Given the description of an element on the screen output the (x, y) to click on. 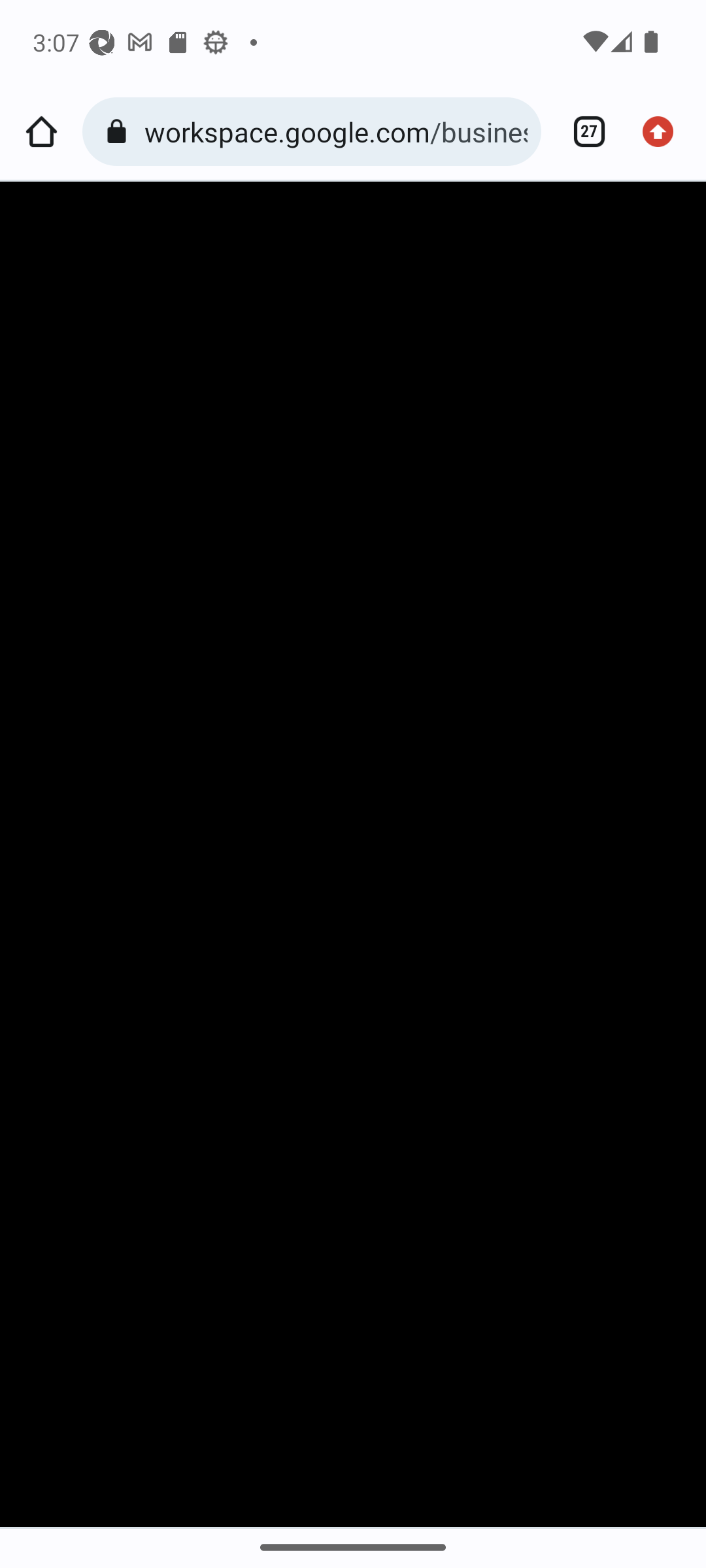
Home (41, 131)
Connection is secure (120, 131)
Switch or close tabs (582, 131)
Update available. More options (664, 131)
